Given the description of an element on the screen output the (x, y) to click on. 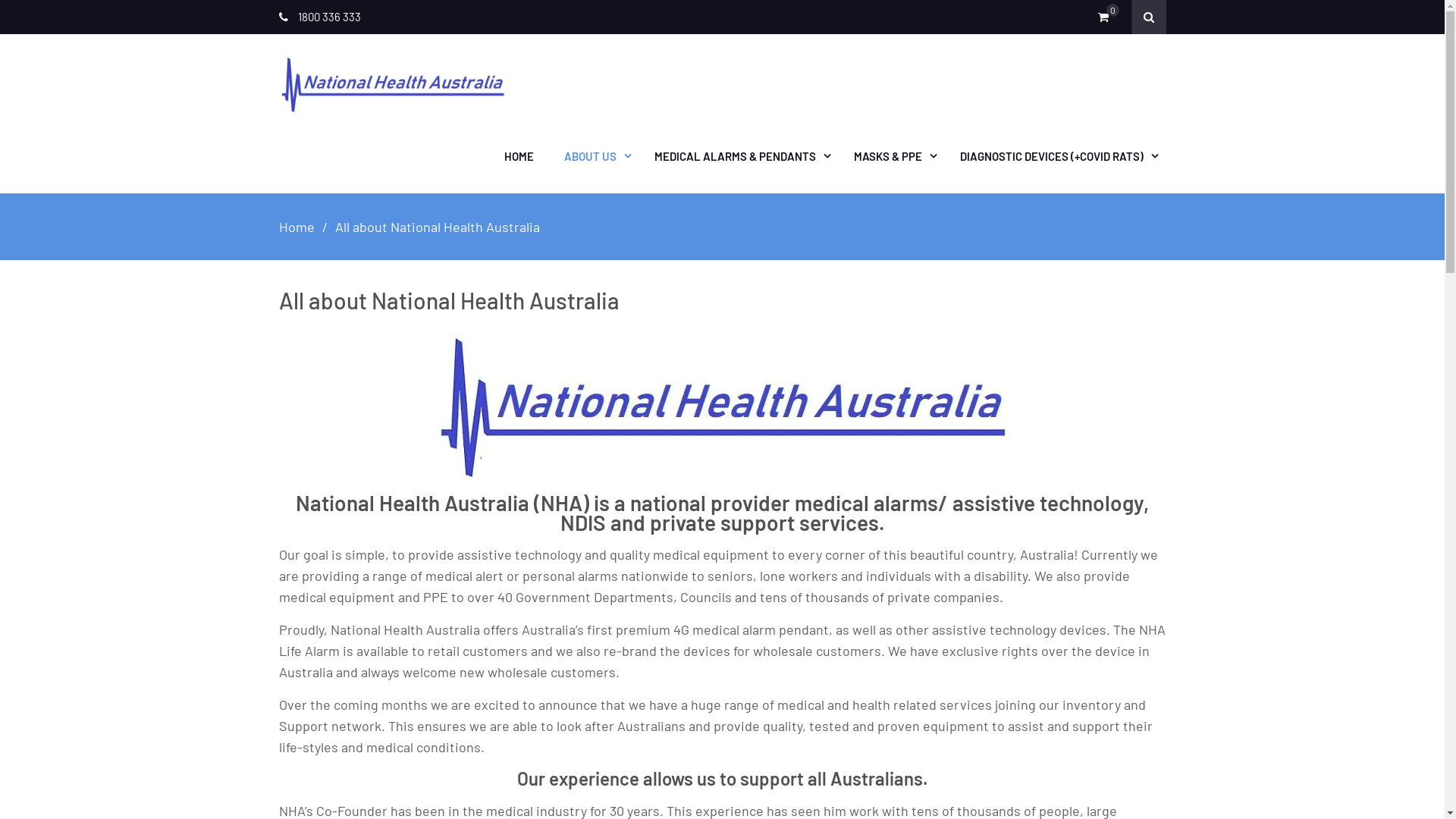
DIAGNOSTIC DEVICES (+COVID RATS) Element type: text (1055, 156)
0 Element type: text (1107, 16)
MASKS & PPE Element type: text (891, 156)
MEDICAL ALARMS & PENDANTS Element type: text (737, 156)
Home Element type: text (296, 226)
HOME Element type: text (518, 156)
ABOUT US Element type: text (594, 156)
